Given the description of an element on the screen output the (x, y) to click on. 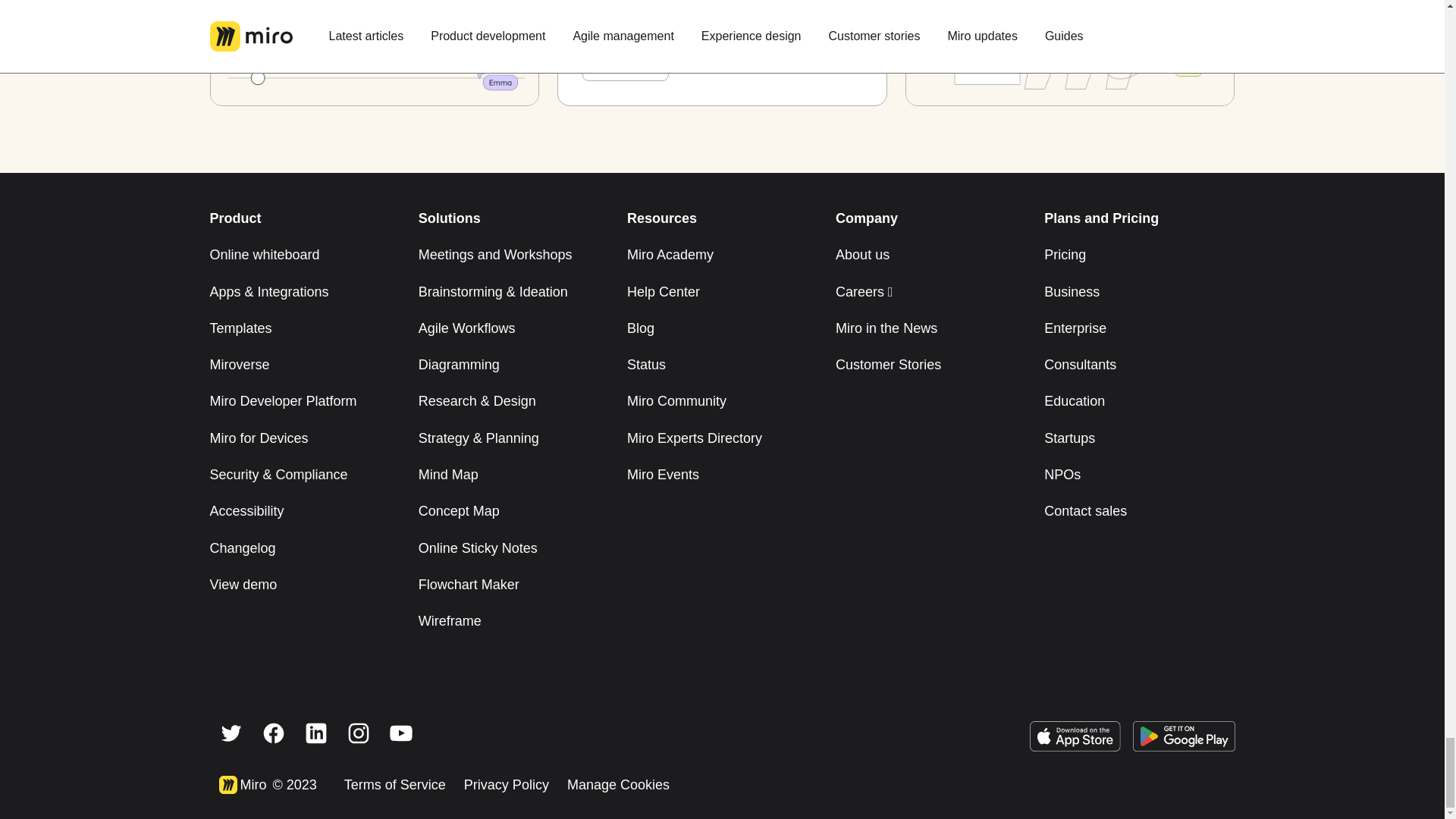
Google Play (1183, 742)
LinkedIn (314, 733)
Facebook (272, 733)
App Store (1075, 742)
Youtube (400, 733)
Twitter (230, 733)
Instagram (357, 733)
